Given the description of an element on the screen output the (x, y) to click on. 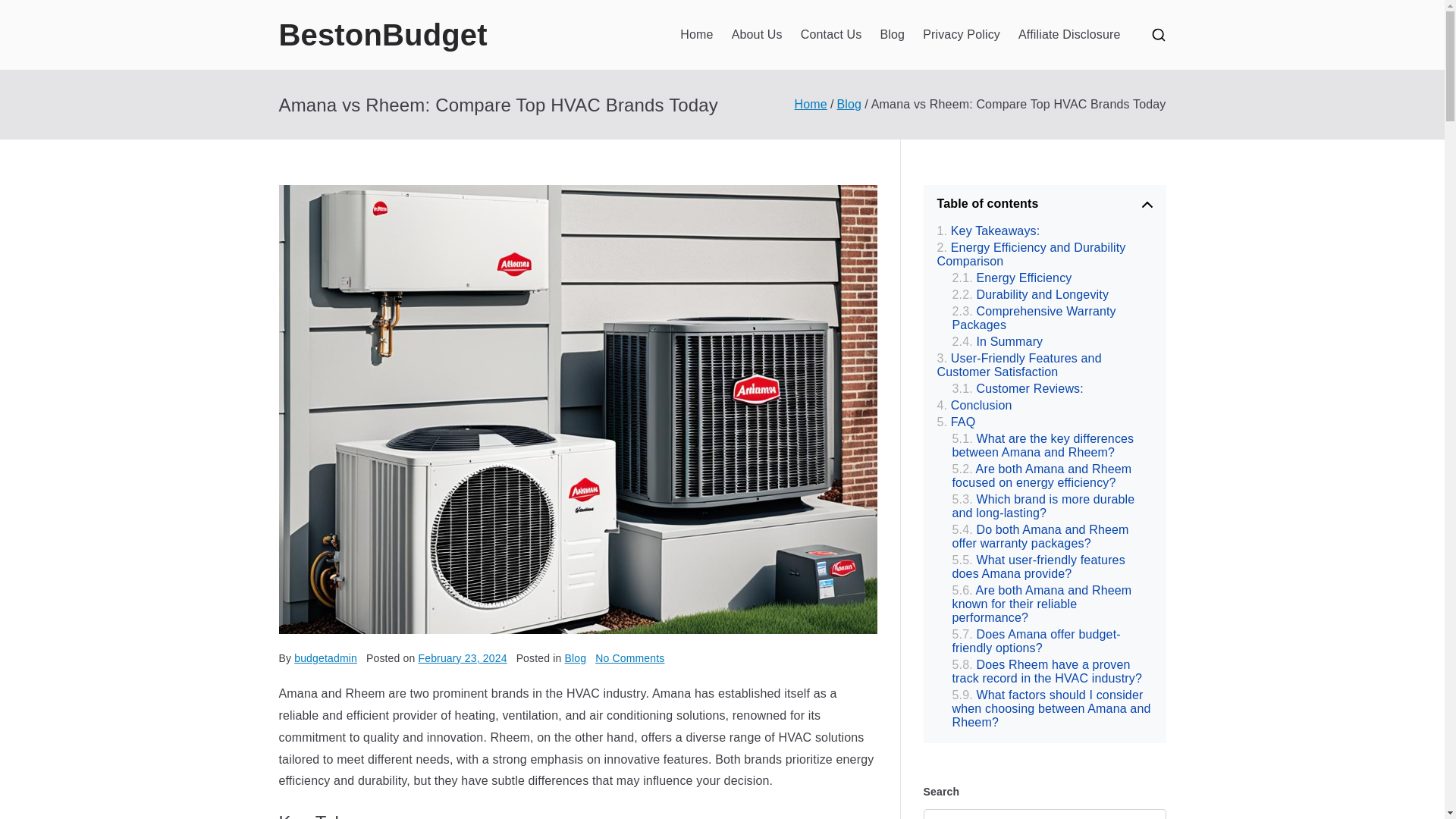
February 23, 2024 (461, 657)
Conclusion (974, 405)
Home (696, 34)
Conclusion (974, 405)
Blog (575, 657)
Home (810, 103)
Durability and Longevity (1030, 294)
Durability and Longevity (1030, 294)
Key Takeaways: (989, 230)
Customer Reviews: (1017, 388)
